Given the description of an element on the screen output the (x, y) to click on. 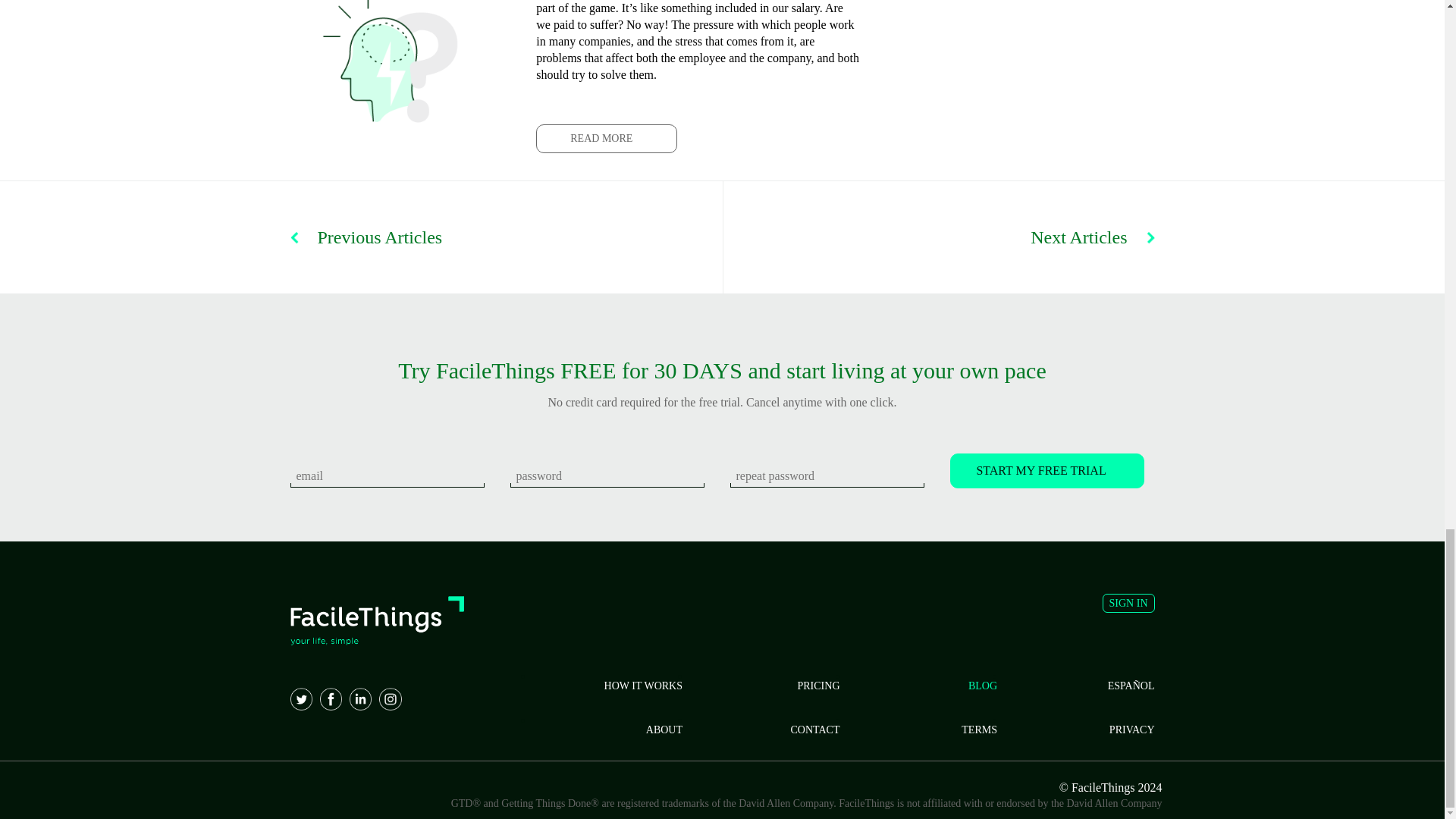
READ MORE     (606, 138)
